Given the description of an element on the screen output the (x, y) to click on. 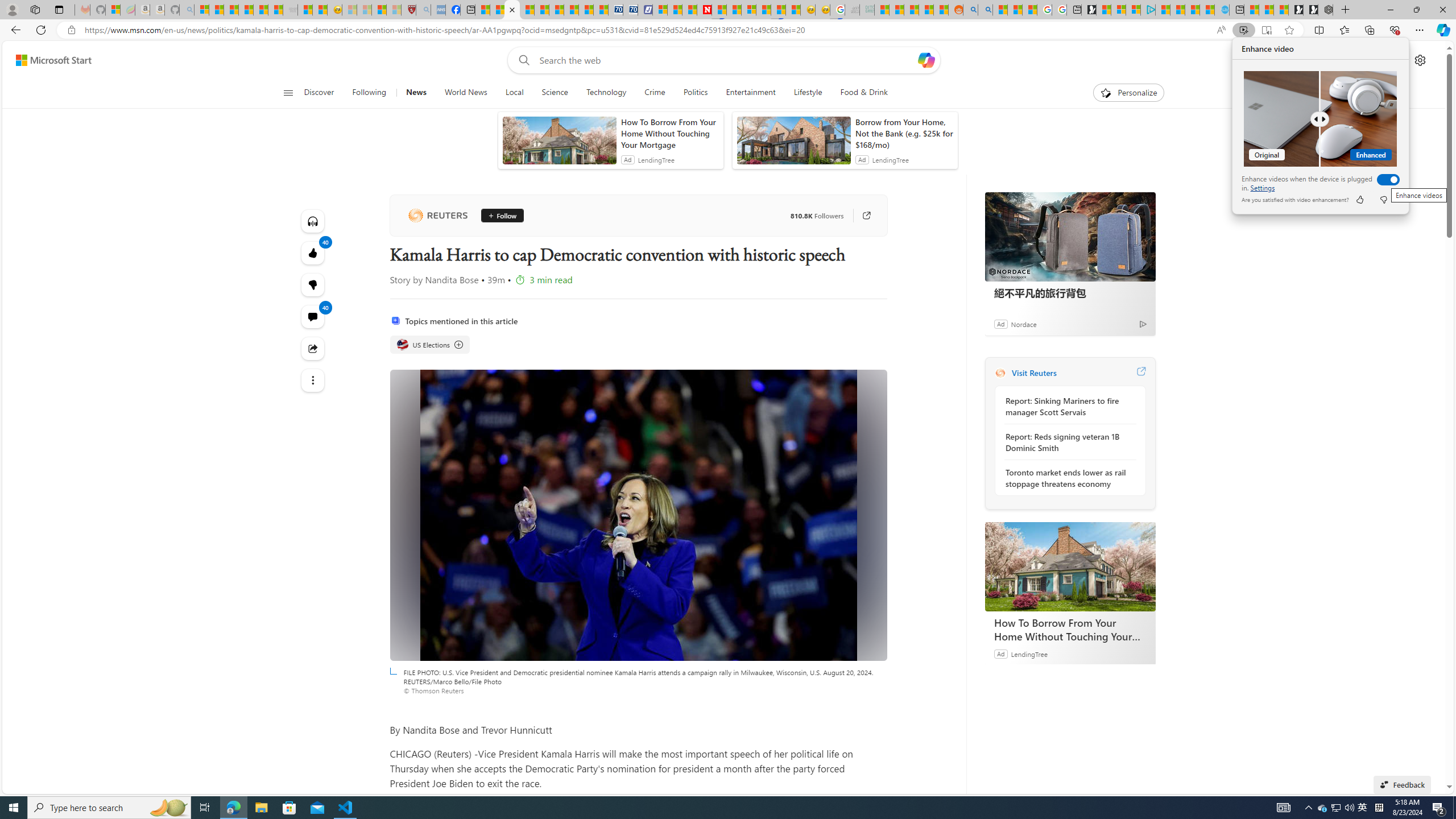
Borrow from Your Home, Not the Bank (e.g. $25k for $168/mo) (903, 133)
Class: button-glyph (287, 92)
Cheap Car Rentals - Save70.com (614, 9)
Lifestyle (807, 92)
World News (465, 92)
How To Borrow From Your Home Without Touching Your Mortgage (1069, 628)
Microsoft account | Privacy (1133, 9)
Microsoft-Report a Concern to Bing (112, 9)
Crime (655, 92)
Start (13, 807)
Type here to search (108, 807)
Following (368, 92)
